Given the description of an element on the screen output the (x, y) to click on. 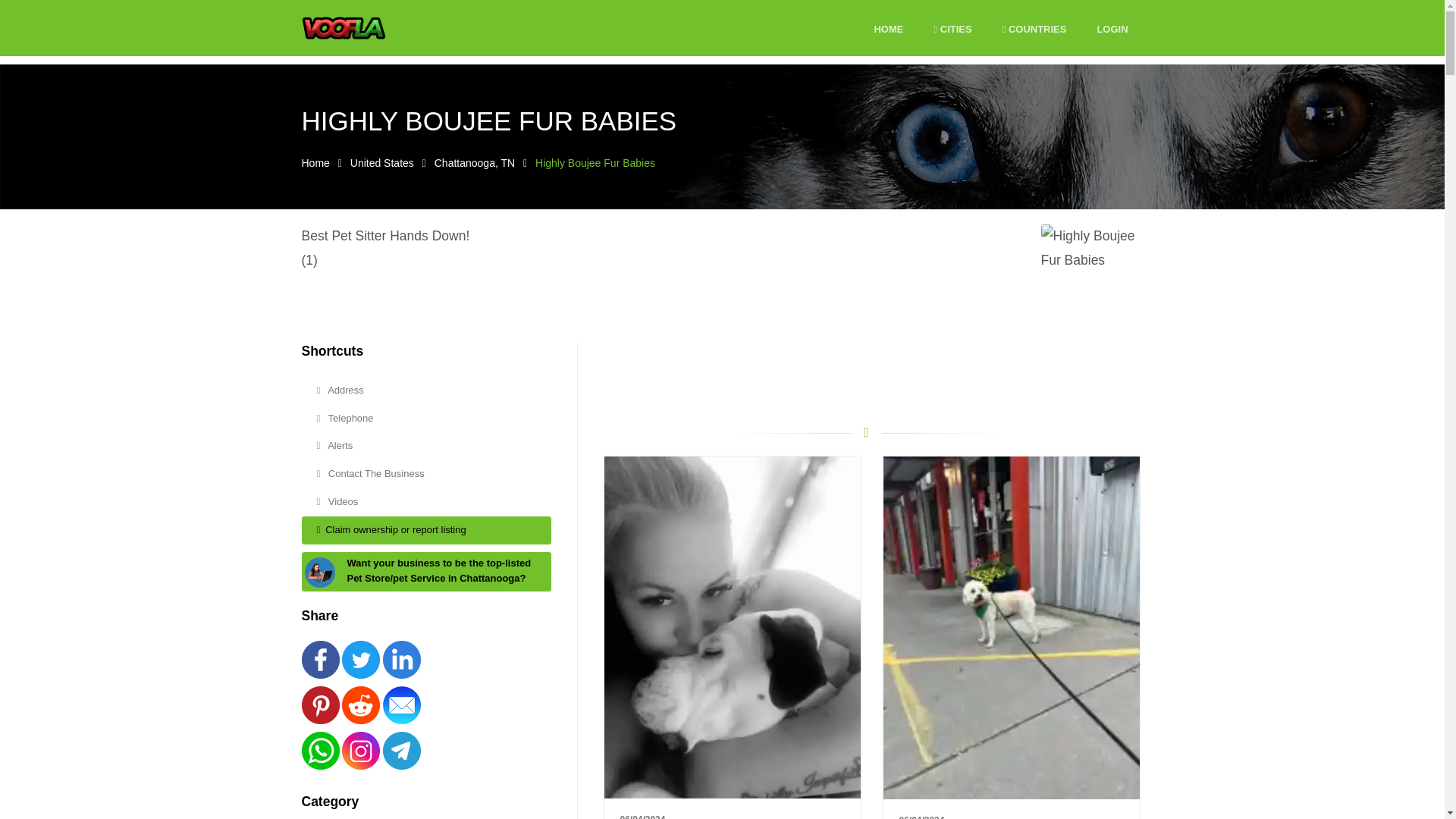
CITIES (952, 29)
Videos (426, 502)
United States (381, 162)
HOME (887, 29)
Chattanooga, TN (474, 162)
Home (315, 162)
Alerts (426, 446)
Contact The Business (426, 474)
Claim ownership or report listing (426, 530)
Address (426, 390)
